Given the description of an element on the screen output the (x, y) to click on. 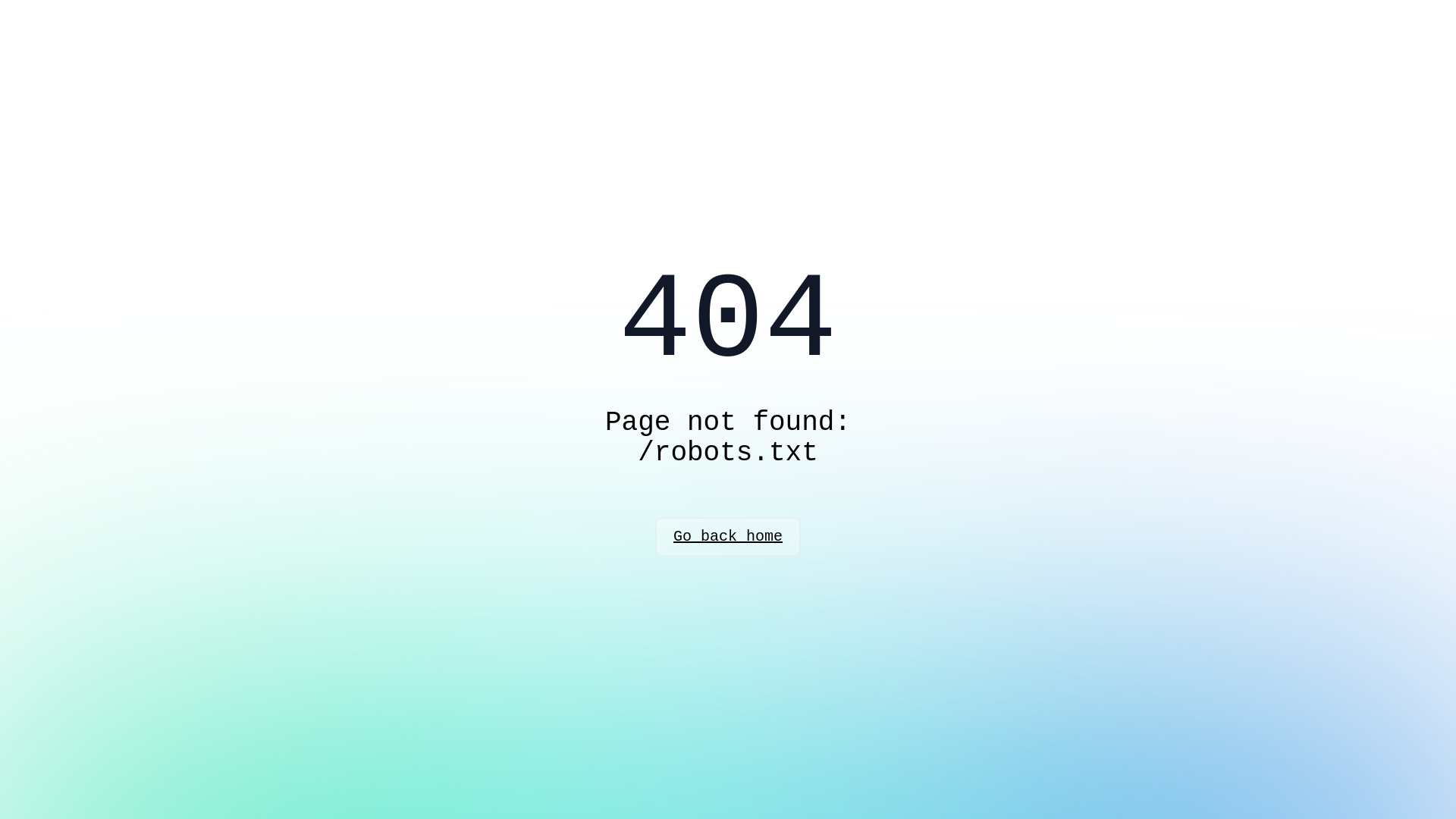
Go back home Element type: text (727, 536)
